Given the description of an element on the screen output the (x, y) to click on. 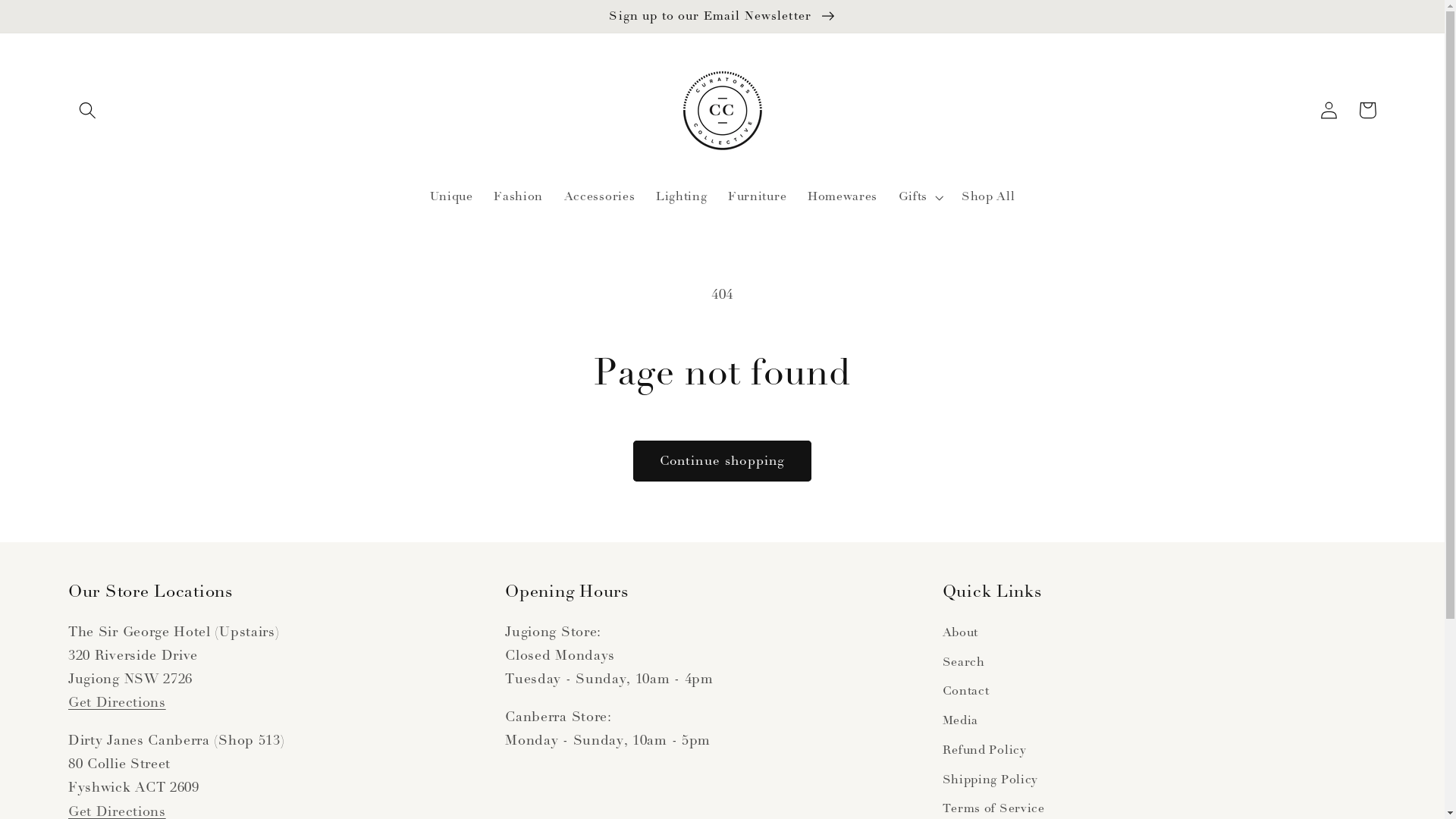
Accessories Element type: text (599, 196)
Sign up to our Email Newsletter Element type: text (722, 16)
Refund Policy Element type: text (984, 750)
Lighting Element type: text (681, 196)
Homewares Element type: text (842, 196)
Get Directions Element type: text (117, 702)
Search Element type: text (963, 662)
Shipping Policy Element type: text (990, 779)
Shop All Element type: text (987, 196)
Cart Element type: text (1367, 110)
Furniture Element type: text (757, 196)
Media Element type: text (960, 720)
About Element type: text (960, 634)
Log in Element type: text (1329, 110)
Contact Element type: text (965, 691)
Fashion Element type: text (517, 196)
Continue shopping Element type: text (722, 460)
Unique Element type: text (451, 196)
